Given the description of an element on the screen output the (x, y) to click on. 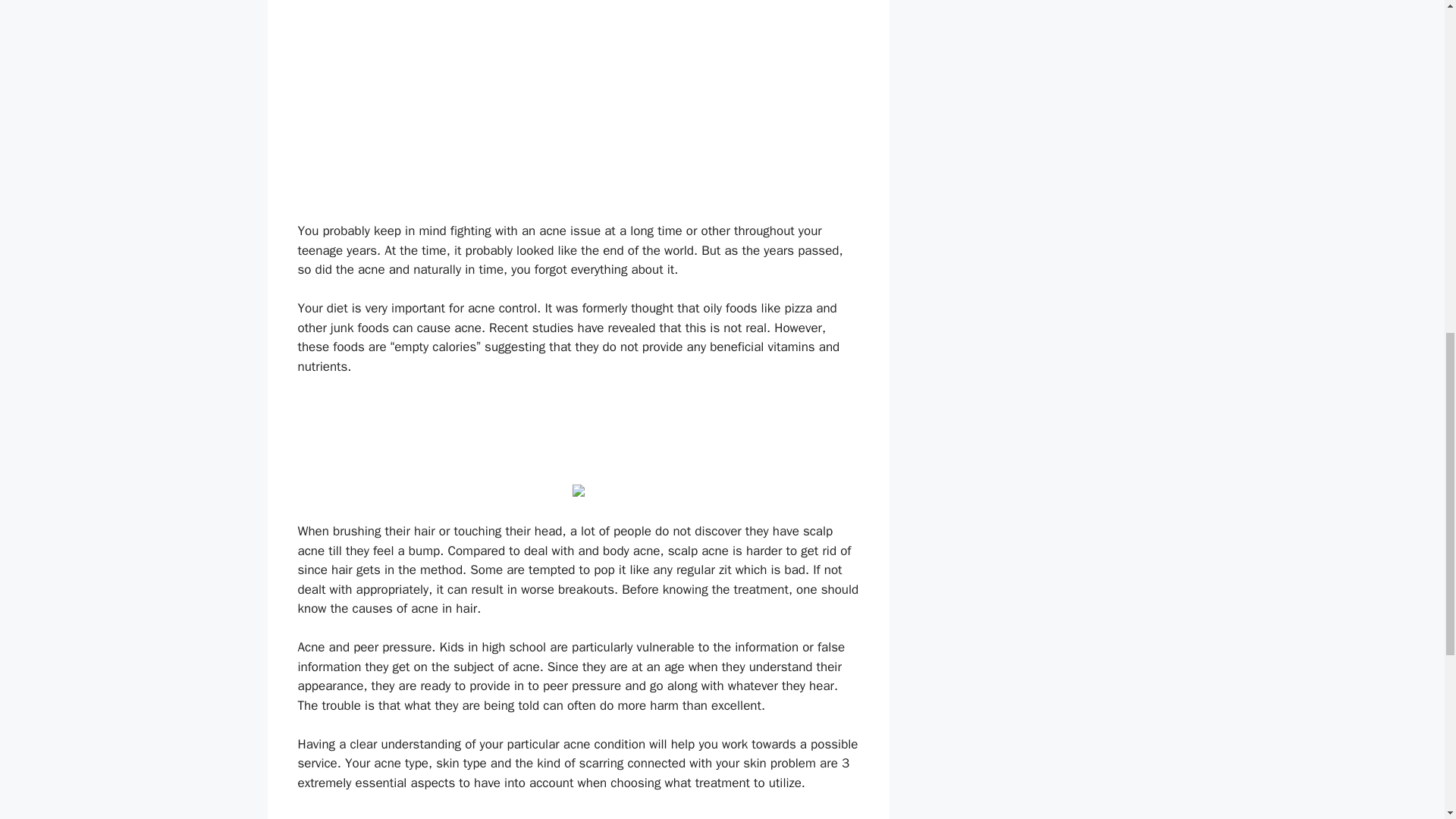
Advertisement (576, 815)
Advertisement (577, 429)
